Given the description of an element on the screen output the (x, y) to click on. 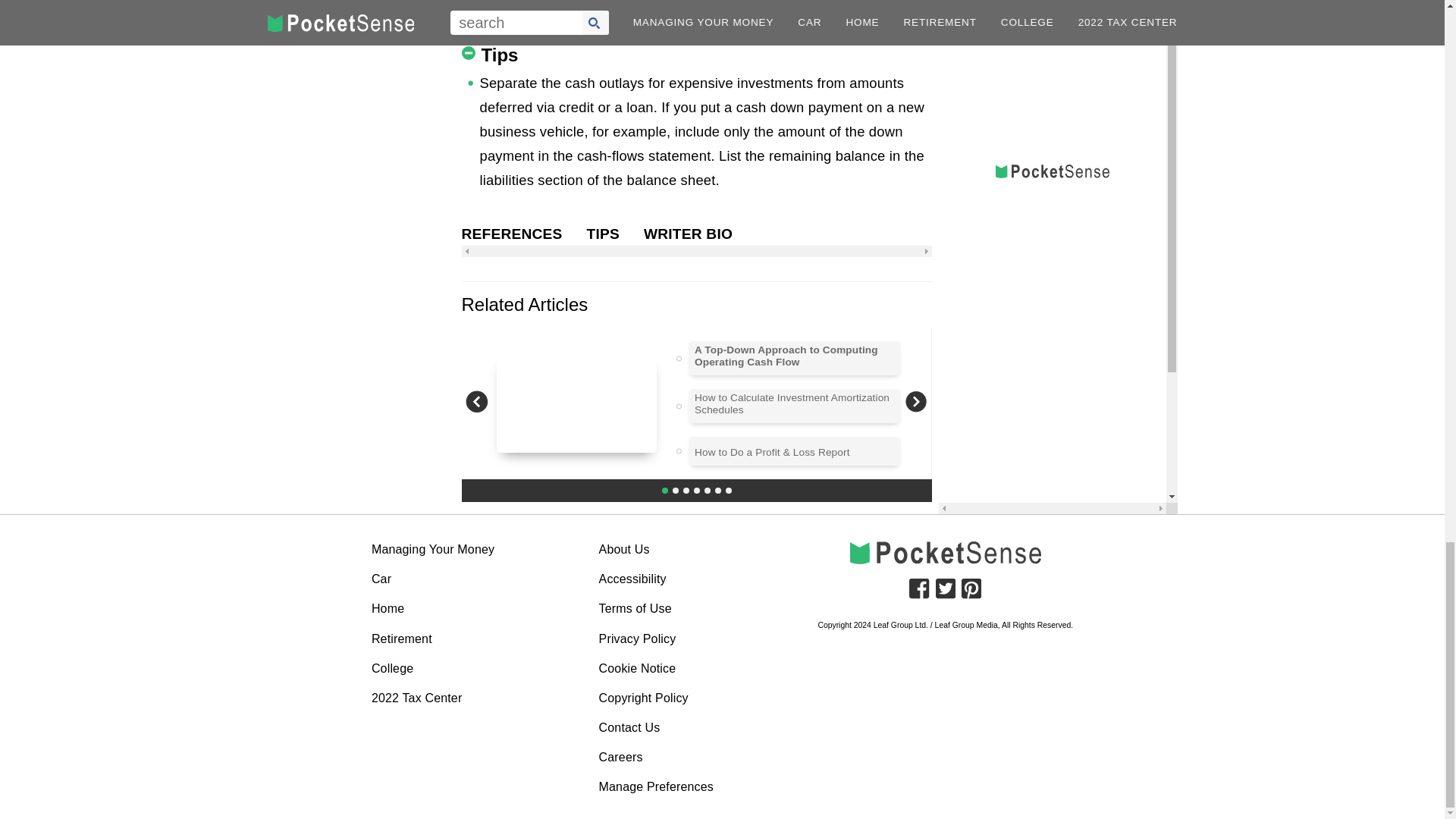
How to Calculate Investment Amortization Schedules (794, 404)
A Top-Down Approach to Computing Operating Cash Flow (794, 356)
